Given the description of an element on the screen output the (x, y) to click on. 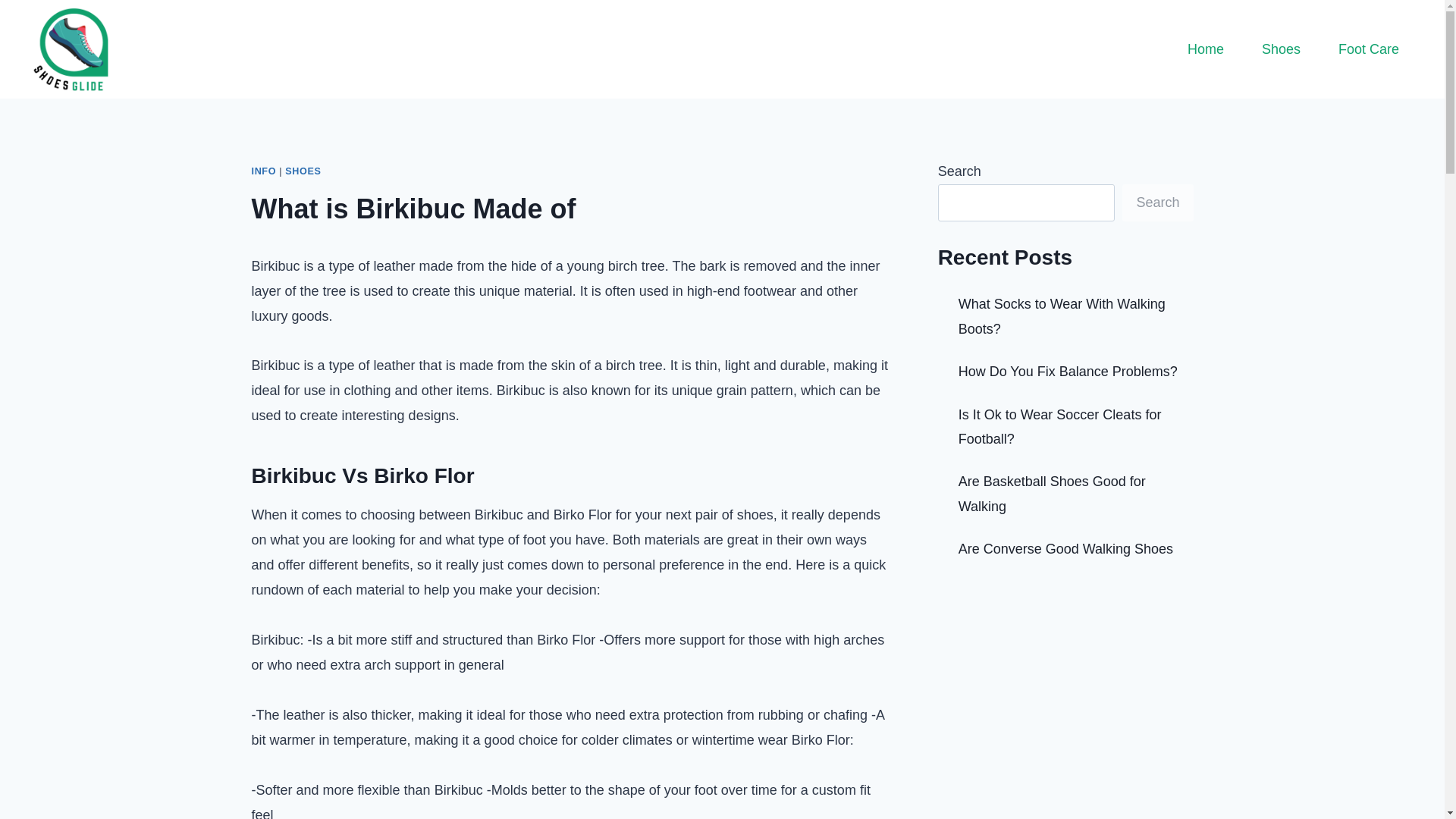
Home (1206, 48)
SHOES (302, 171)
Shoes (1281, 48)
Foot Care (1368, 48)
INFO (263, 171)
